Given the description of an element on the screen output the (x, y) to click on. 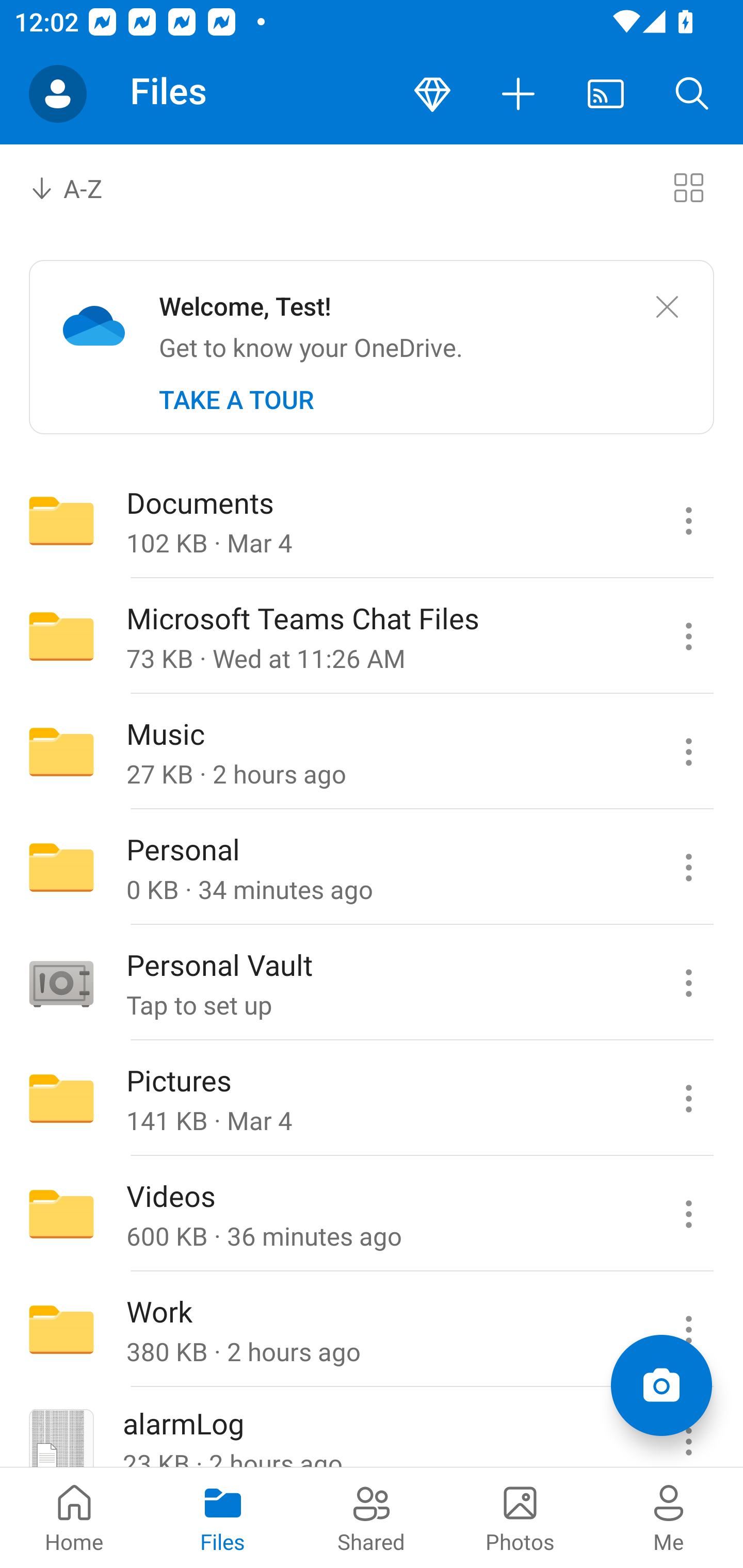
Account switcher (57, 93)
Cast. Disconnected (605, 93)
Premium button (432, 93)
More actions button (518, 93)
Search button (692, 93)
A-Z Sort by combo box, sort by name, A to Z (80, 187)
Switch to tiles view (688, 187)
Close (667, 307)
TAKE A TOUR (236, 399)
Folder Documents 102 KB · Mar 4 Documents commands (371, 520)
Documents commands (688, 520)
Microsoft Teams Chat Files commands (688, 636)
Folder Music 27 KB · 2 hours ago Music commands (371, 751)
Music commands (688, 751)
Personal commands (688, 867)
Personal Vault commands (688, 983)
Folder Pictures 141 KB · Mar 4 Pictures commands (371, 1099)
Pictures commands (688, 1099)
Videos commands (688, 1214)
Folder Work 380 KB · 2 hours ago Work commands (371, 1329)
Work commands (688, 1329)
Add items Scan (660, 1385)
alarmLog commands (688, 1427)
Home pivot Home (74, 1517)
Shared pivot Shared (371, 1517)
Photos pivot Photos (519, 1517)
Me pivot Me (668, 1517)
